Given the description of an element on the screen output the (x, y) to click on. 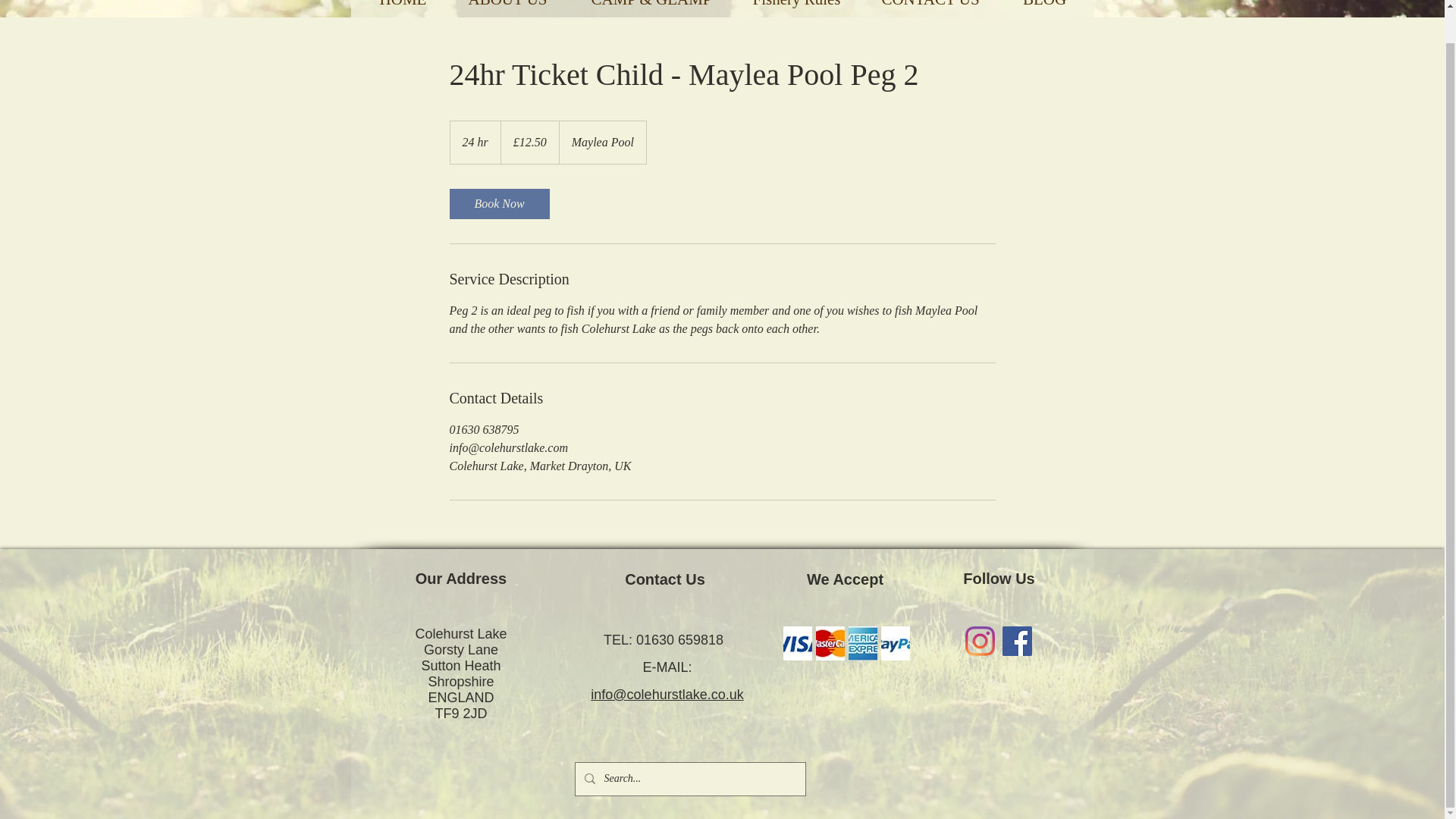
Fishery Rules (797, 8)
HOME (402, 8)
CONTACT US (931, 8)
ABOUT US (506, 8)
Book Now (498, 204)
BLOG (1044, 8)
